Given the description of an element on the screen output the (x, y) to click on. 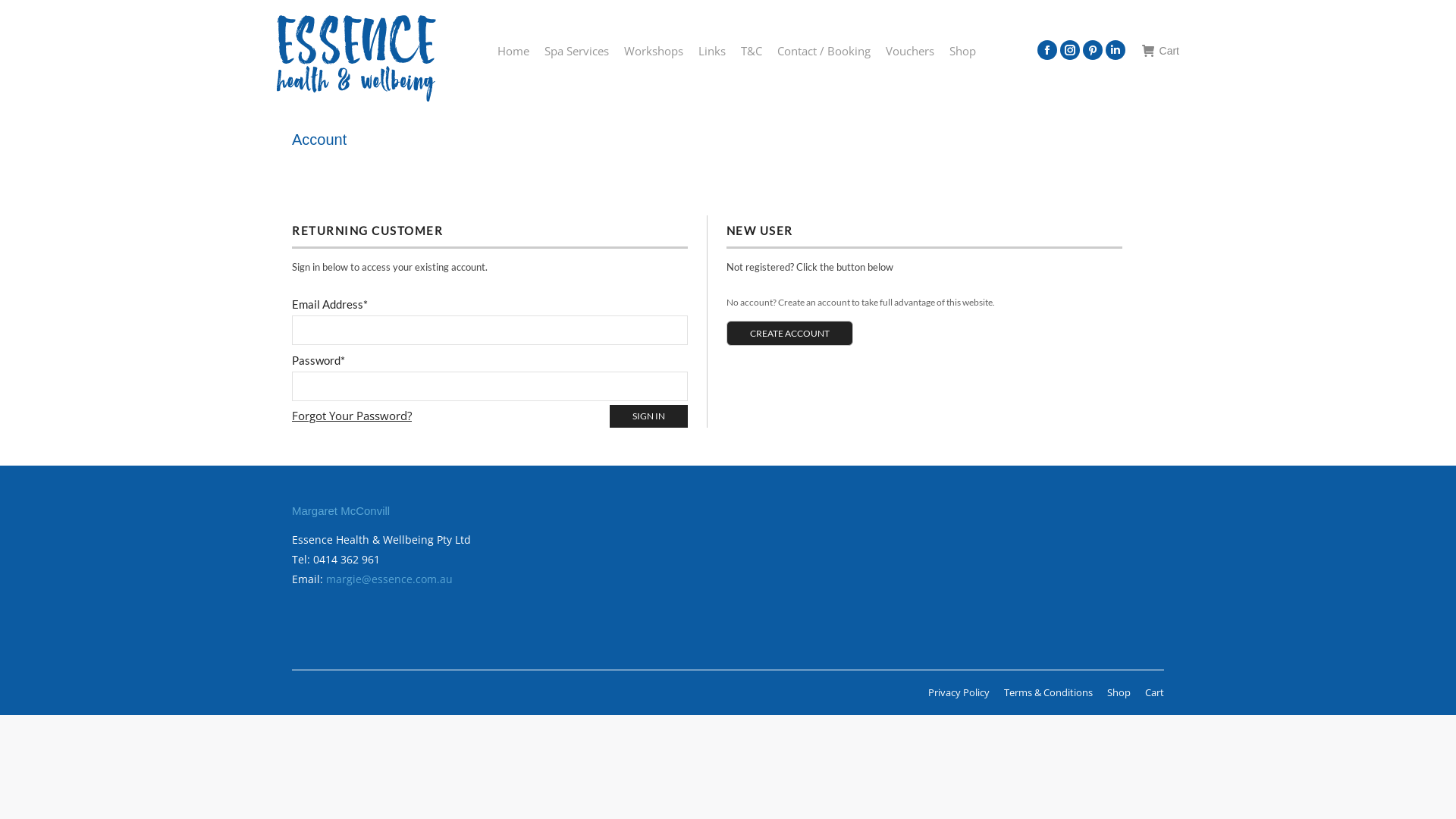
Terms & Conditions Element type: text (1048, 692)
Instagram page opens in new window Element type: text (1069, 49)
Cart Element type: text (1154, 692)
Forgot Your Password? Element type: text (351, 415)
Links Element type: text (711, 50)
Privacy Policy Element type: text (958, 692)
Cart Element type: text (1159, 50)
margie@essence.com.au Element type: text (389, 578)
Pinterest page opens in new window Element type: text (1092, 49)
SIGN IN Element type: text (648, 415)
Shop Element type: text (962, 50)
Linkedin page opens in new window Element type: text (1115, 49)
Spa Services Element type: text (576, 50)
Shop Element type: text (1118, 692)
Home Element type: text (512, 50)
Contact / Booking Element type: text (823, 50)
CREATE ACCOUNT Element type: text (789, 332)
Facebook page opens in new window Element type: text (1047, 49)
Vouchers Element type: text (909, 50)
Workshops Element type: text (653, 50)
T&C Element type: text (751, 50)
